Given the description of an element on the screen output the (x, y) to click on. 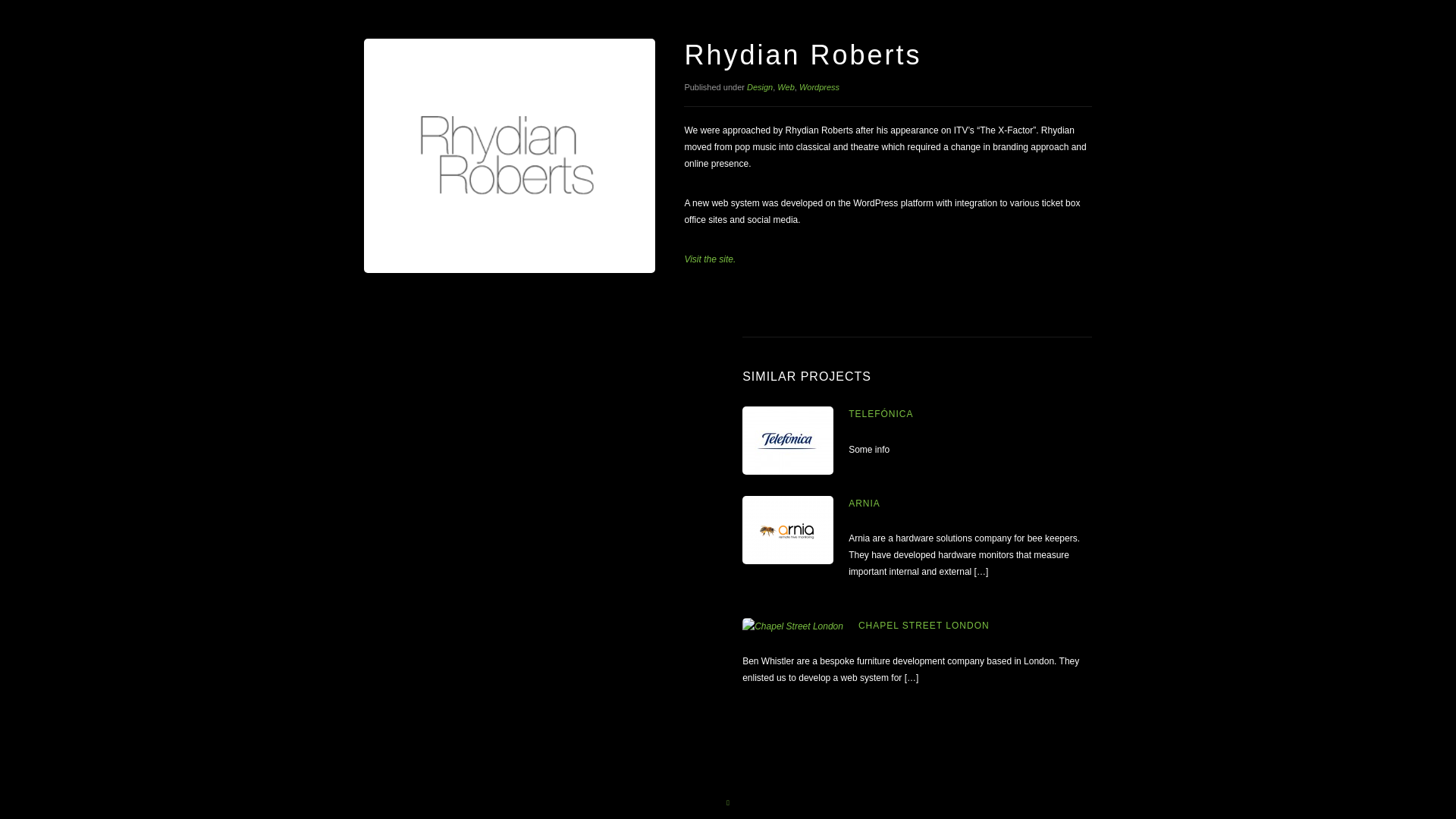
TWITTER (799, 673)
Visit the site. (709, 258)
Design (759, 86)
Wordpress (819, 86)
Web (785, 86)
CHAPEL STREET LONDON (924, 624)
FACEBOOK (846, 673)
ARNIA (864, 502)
Rhydian Roberts (709, 258)
